Given the description of an element on the screen output the (x, y) to click on. 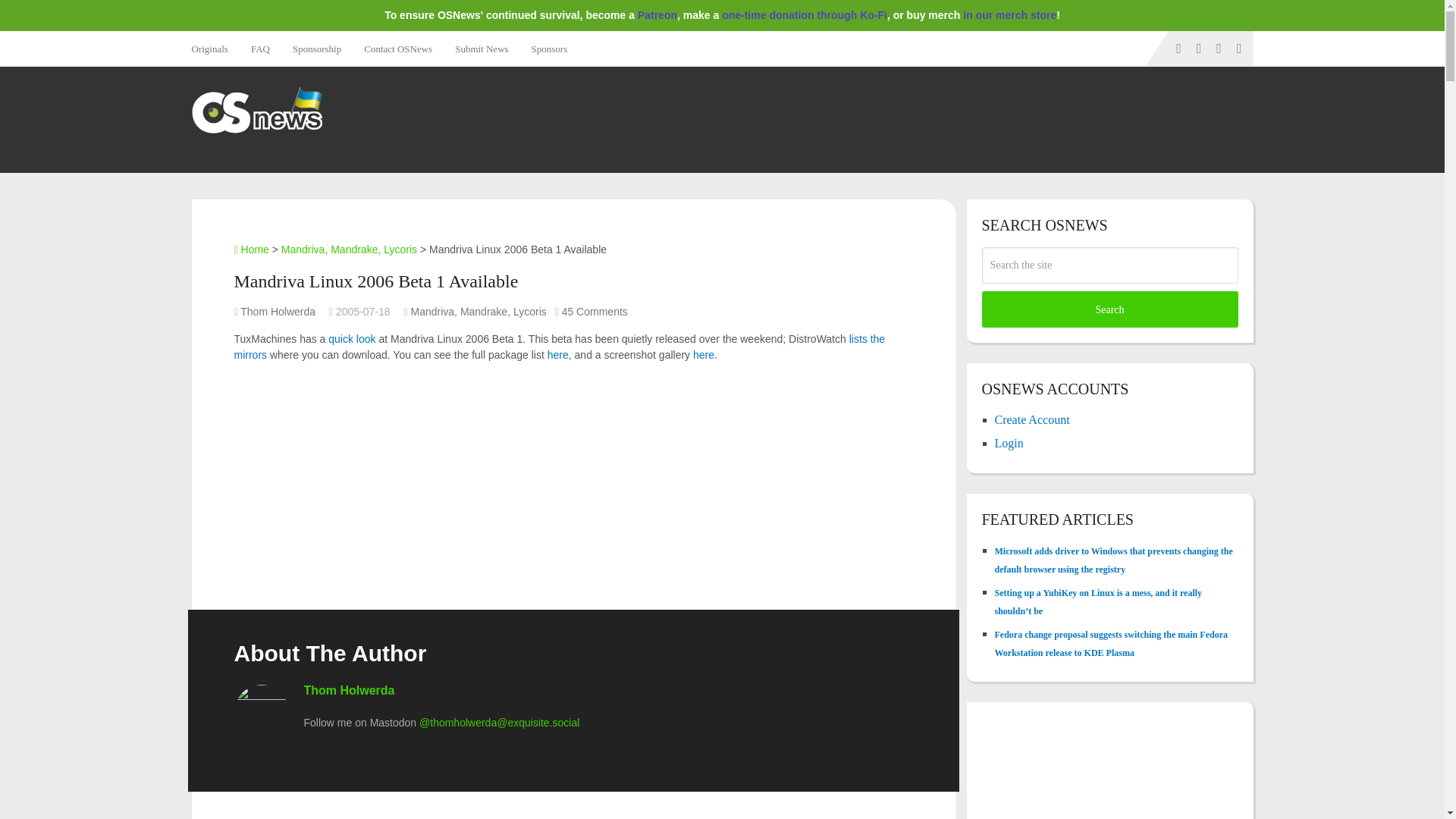
Search (1109, 309)
lists the mirrors (558, 346)
Posts by Thom Holwerda (277, 311)
Patreon (657, 15)
 Home (249, 249)
Originals (214, 48)
Sponsors (549, 48)
Contact OSNews (398, 48)
Thom Holwerda (277, 311)
45 Comments (594, 311)
here (558, 354)
here (703, 354)
one-time donation through Ko-Fi (804, 15)
Submit News (481, 48)
quick look (352, 338)
